Given the description of an element on the screen output the (x, y) to click on. 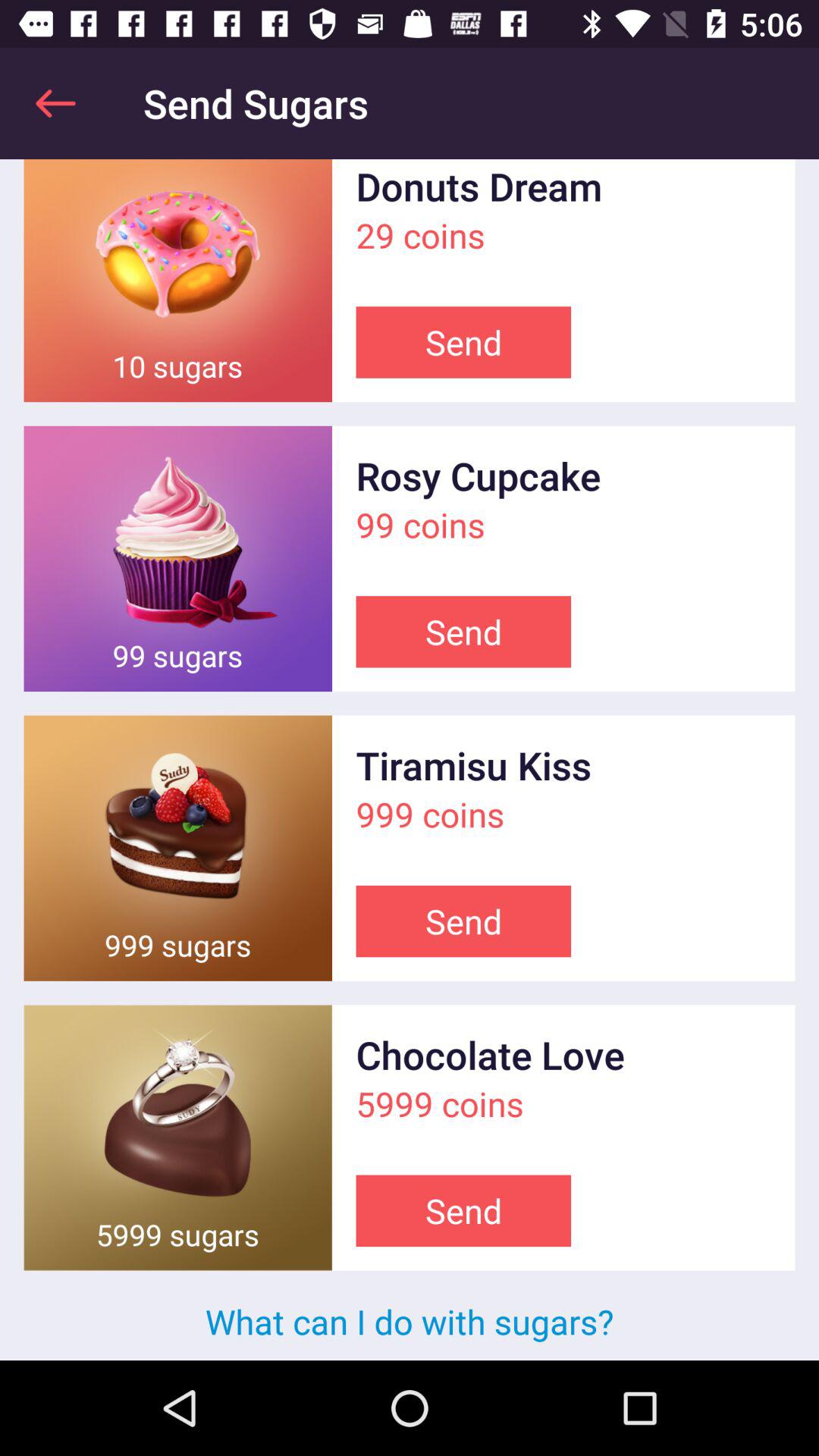
enlarge the image (177, 558)
